Given the description of an element on the screen output the (x, y) to click on. 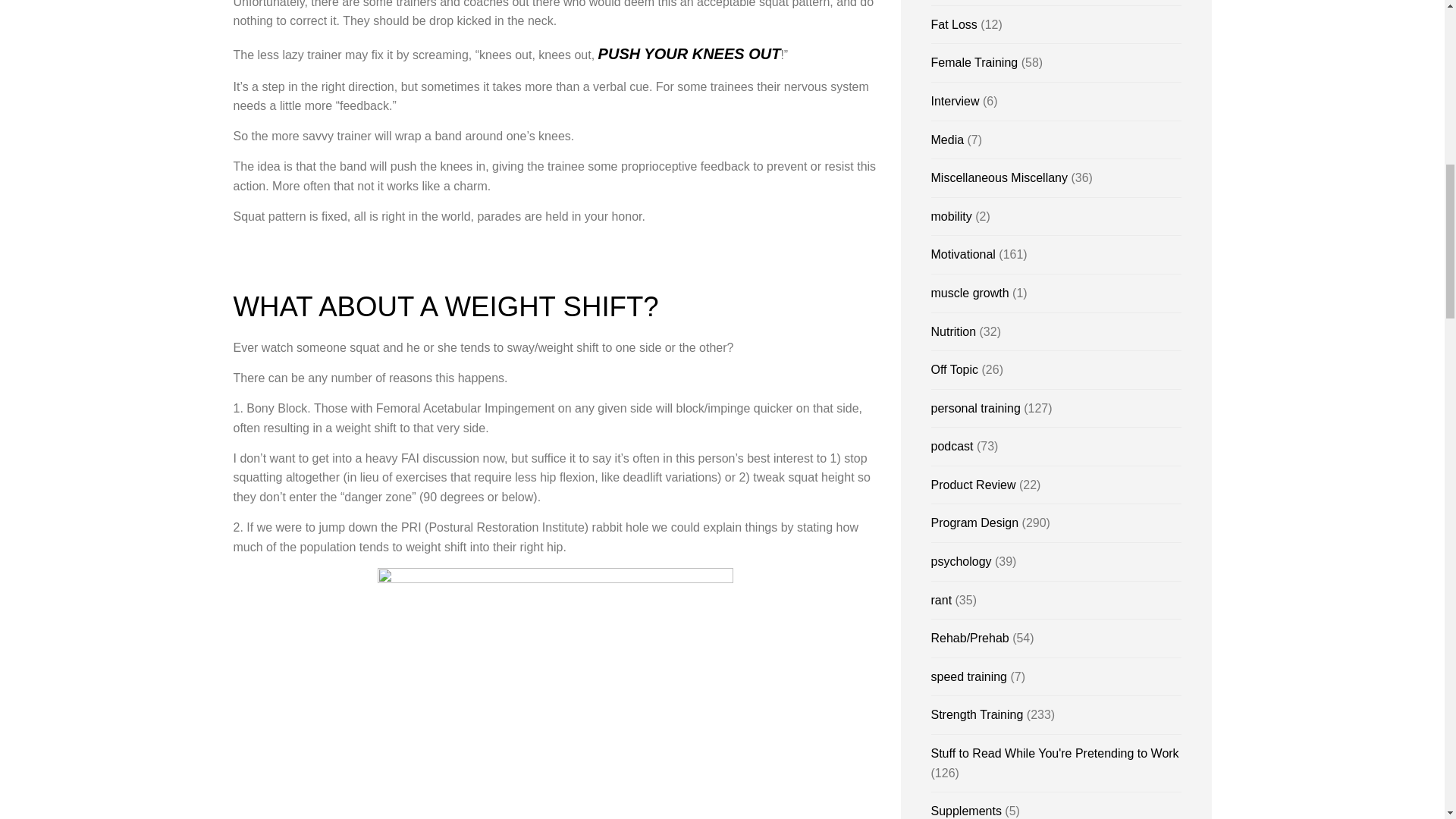
Off Topic (954, 369)
Interview (955, 101)
personal training (975, 408)
Nutrition (953, 330)
Miscellaneous Miscellany (999, 177)
muscle growth (970, 292)
Female Training (974, 62)
Fat Loss (953, 24)
mobility (951, 215)
Motivational (963, 254)
